Given the description of an element on the screen output the (x, y) to click on. 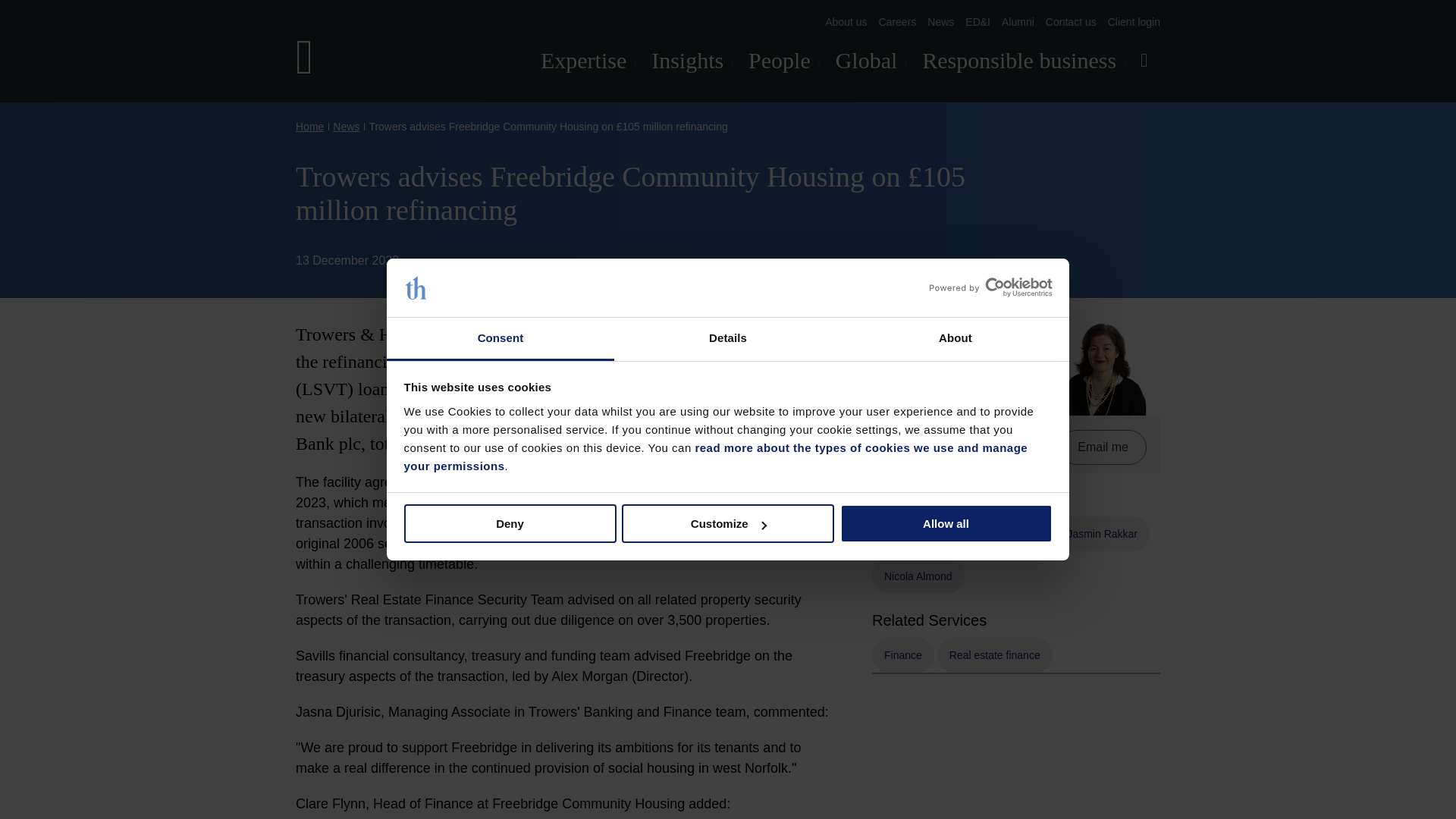
About (954, 339)
Consent (500, 339)
Details (727, 339)
